Given the description of an element on the screen output the (x, y) to click on. 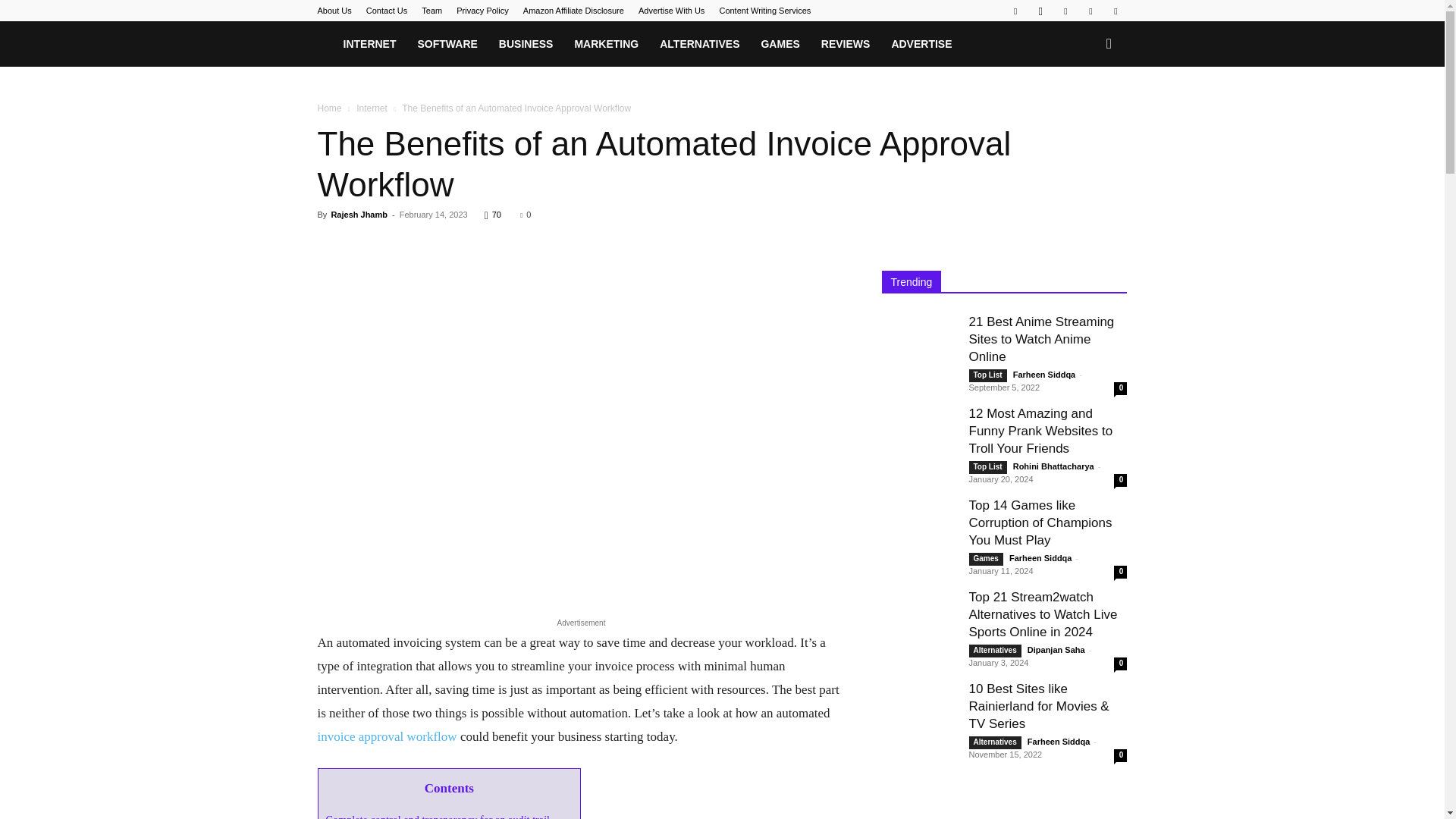
Advertise With Us (671, 10)
SOFTWARE (446, 43)
View all posts in Internet (371, 108)
Twitter (1114, 10)
MARKETING (606, 43)
ALTERNATIVES (699, 43)
Contact Us (386, 10)
Content Writing Services (764, 10)
GAMES (779, 43)
Instagram (1040, 10)
